Given the description of an element on the screen output the (x, y) to click on. 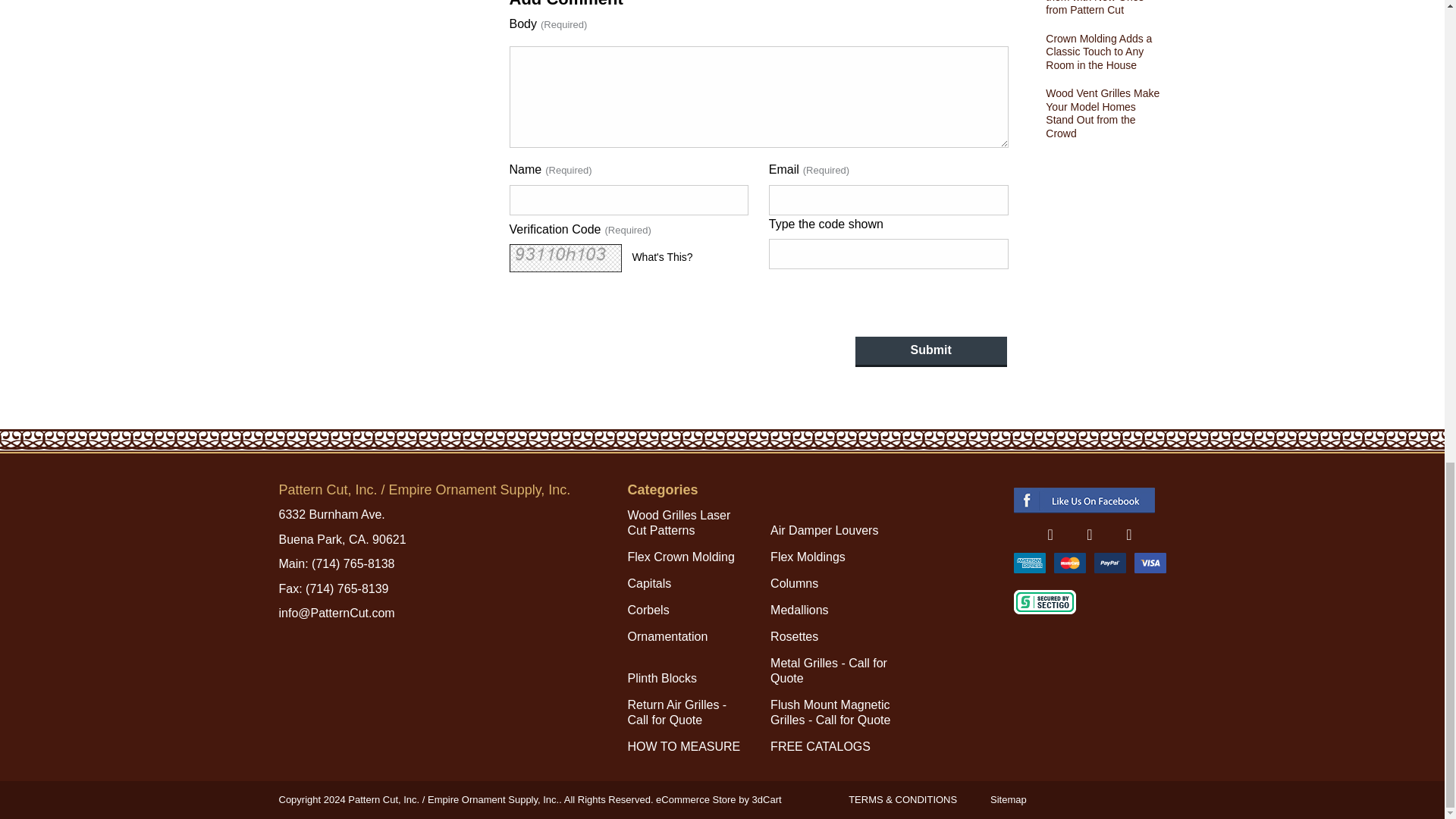
Follow Us on Instagram (1129, 534)
Like Us on Facebook (1050, 534)
Submit (931, 351)
Subscribe to our Channel (1089, 534)
